Given the description of an element on the screen output the (x, y) to click on. 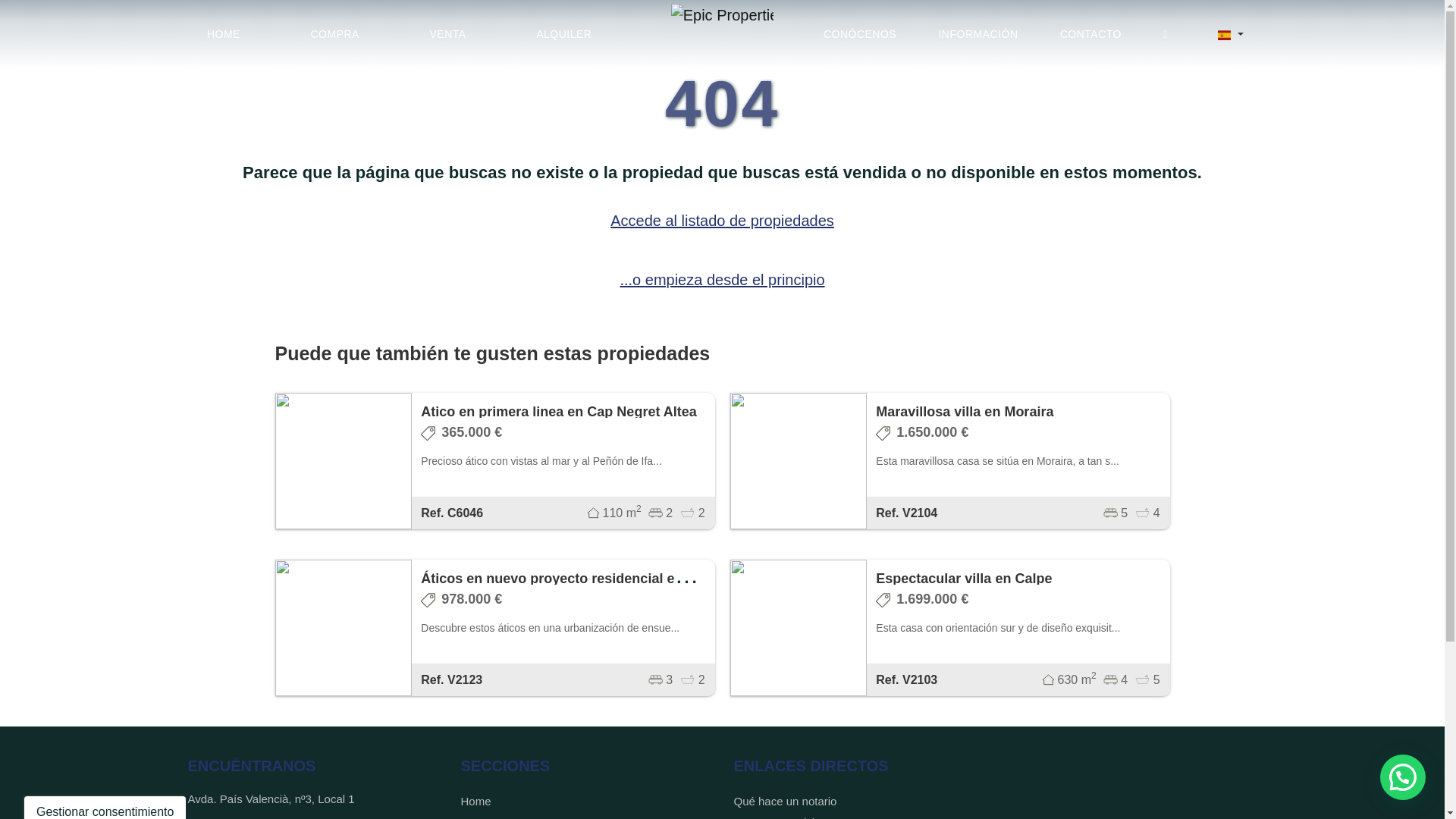
VENTA (447, 33)
ALQUILER (563, 33)
COMPRA (334, 33)
...o empieza desde el principio (722, 279)
Accede al listado de propiedades (722, 220)
CONTACTO (1090, 33)
HOME (223, 33)
